Given the description of an element on the screen output the (x, y) to click on. 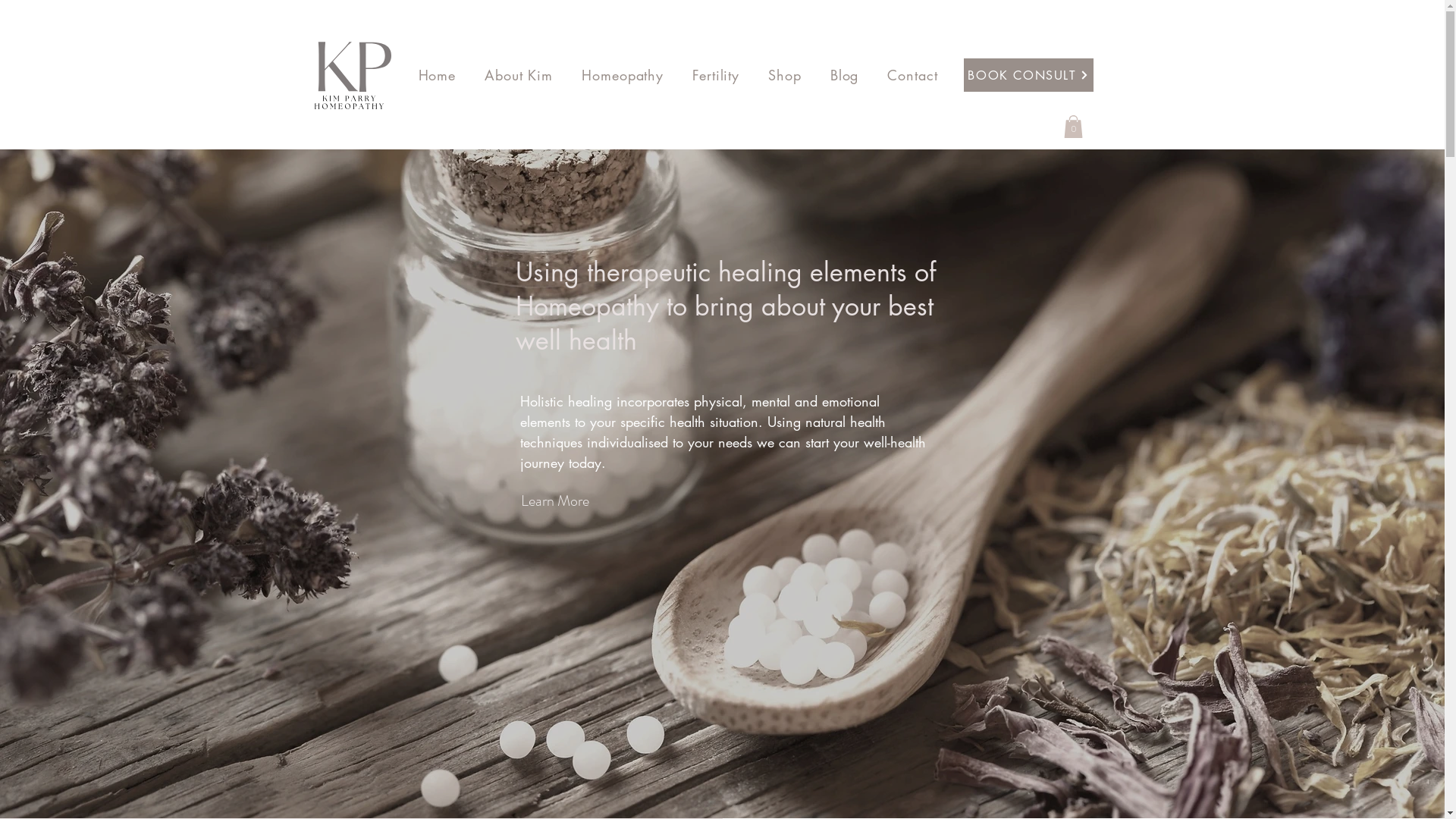
Fertility Element type: text (727, 74)
Contact Element type: text (923, 74)
kp@kimparry.com.au Element type: text (1354, 78)
Shop Element type: text (796, 74)
Learn More Element type: text (554, 500)
0 Element type: text (1072, 126)
BOOK CONSULT Element type: text (1027, 74)
About Kim Element type: text (529, 74)
Blog Element type: text (855, 74)
Home Element type: text (448, 74)
Homeopathy Element type: text (633, 74)
